Given the description of an element on the screen output the (x, y) to click on. 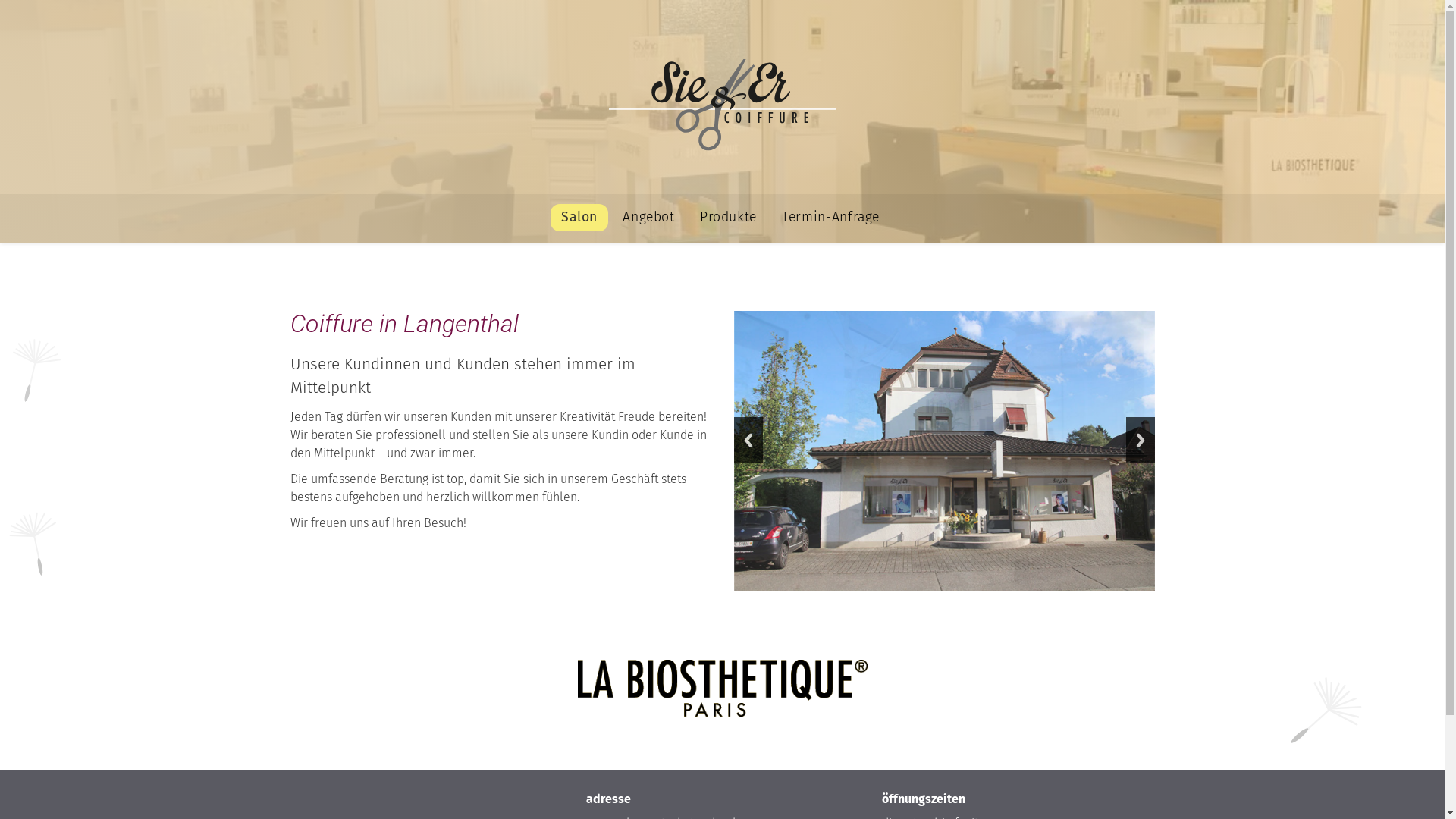
Produkte Element type: text (728, 217)
Salon Element type: text (579, 217)
Termin-Anfrage Element type: text (830, 217)
Angebot Element type: text (648, 217)
Coiffeur in Langenthal - Coiffure SIE + ER Element type: hover (721, 104)
